Given the description of an element on the screen output the (x, y) to click on. 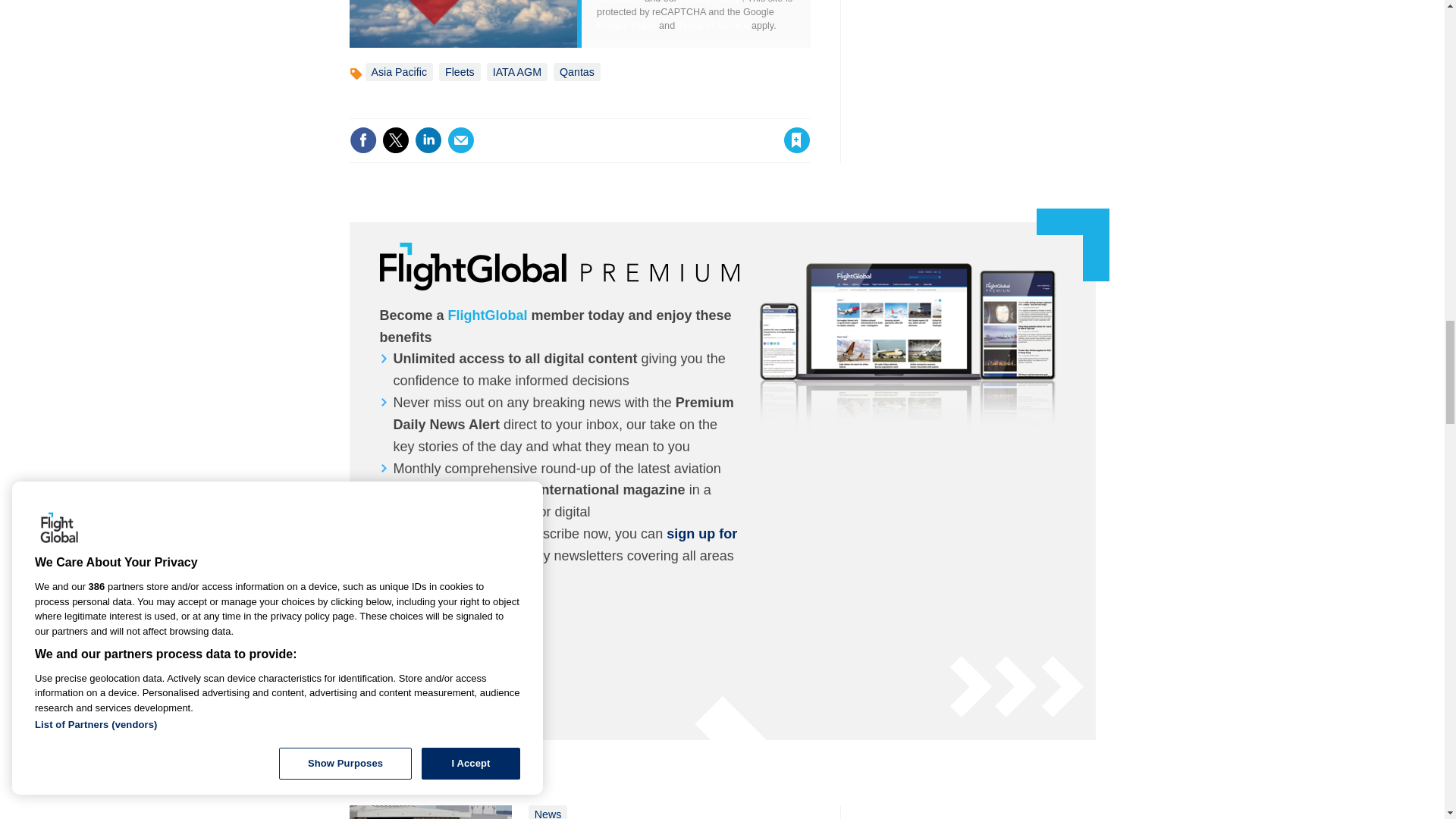
Share this on Twitter (395, 139)
Share this on Linked in (427, 139)
Email this article (460, 139)
Share this on Facebook (362, 139)
